Given the description of an element on the screen output the (x, y) to click on. 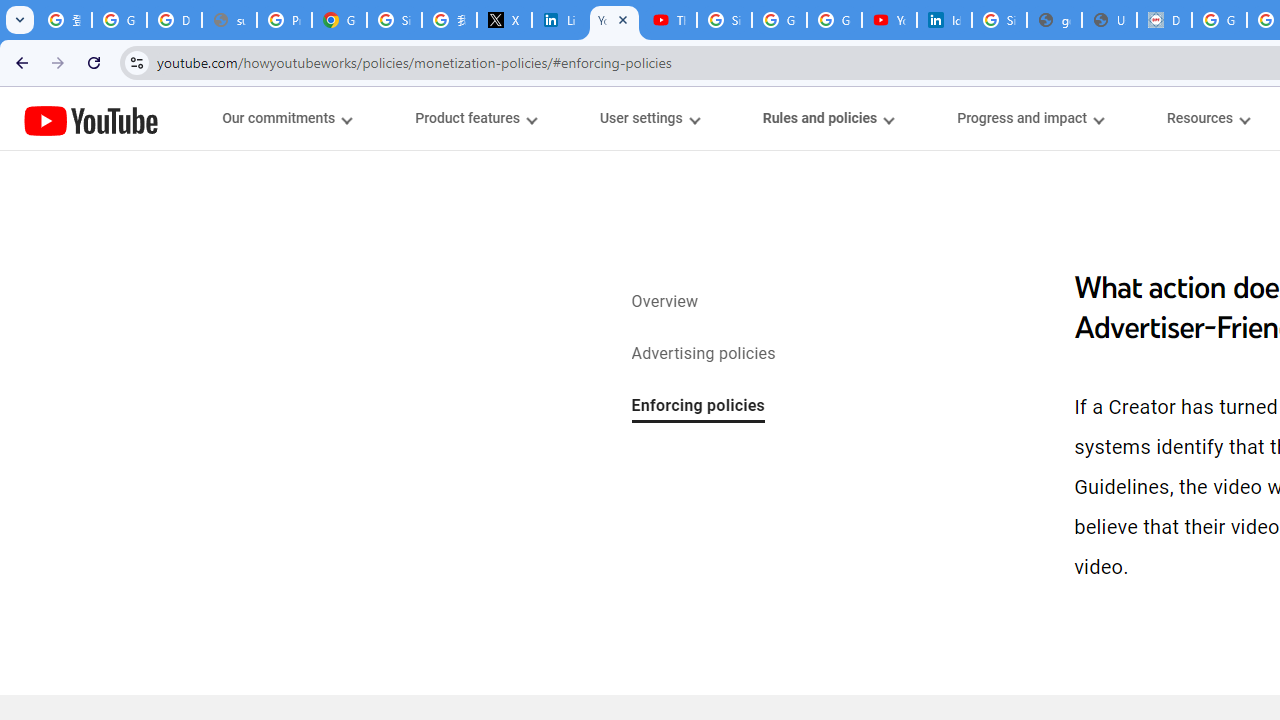
JUMP TO CONTENT (209, 119)
Progress and impact menupopup (1030, 118)
Privacy Help Center - Policies Help (284, 20)
Sign in - Google Accounts (724, 20)
X (504, 20)
How YouTube Works (91, 118)
support.google.com - Network error (229, 20)
